Given the description of an element on the screen output the (x, y) to click on. 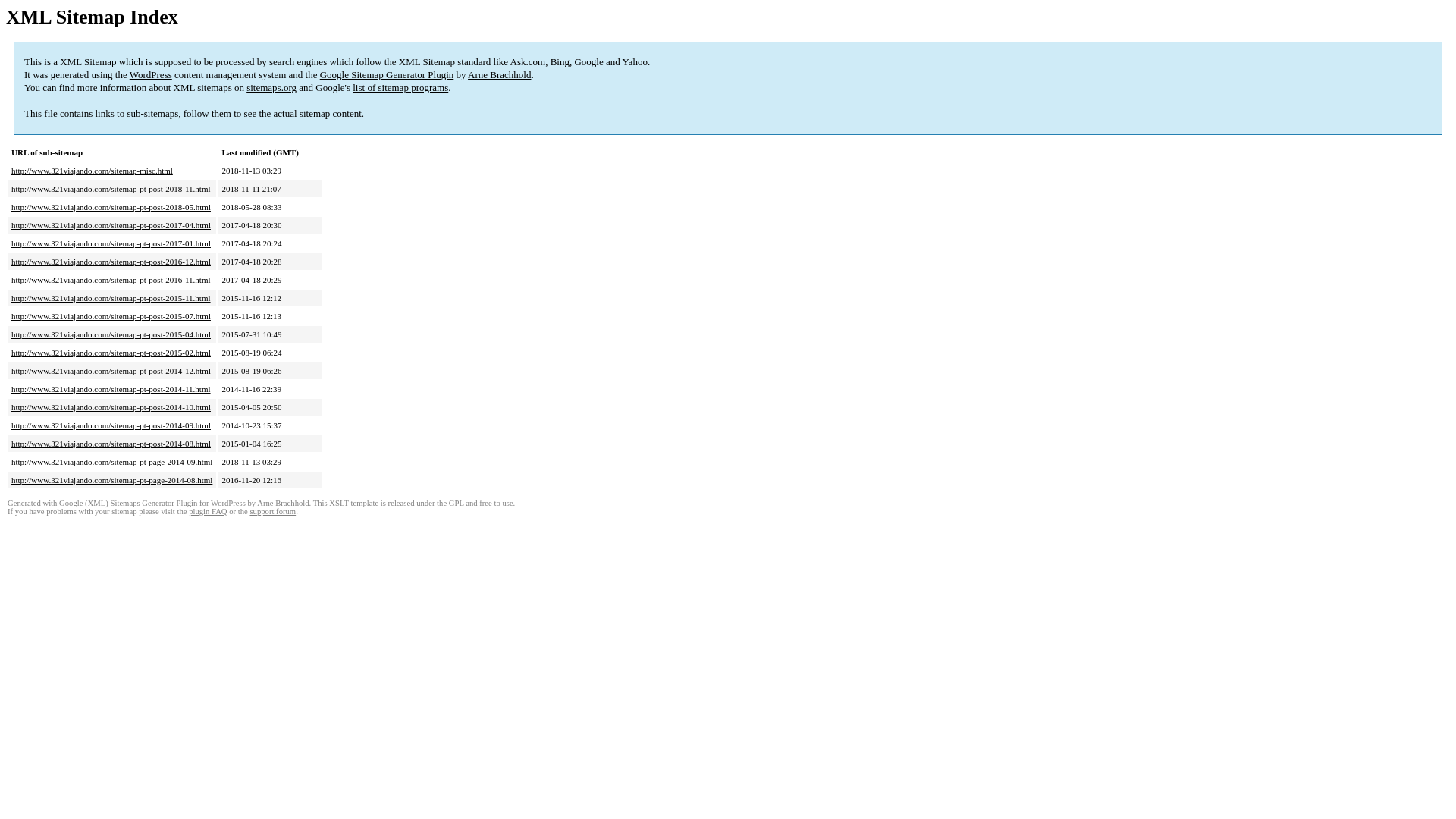
http://www.321viajando.com/sitemap-pt-post-2015-04.html Element type: text (110, 333)
http://www.321viajando.com/sitemap-pt-post-2017-04.html Element type: text (110, 224)
list of sitemap programs Element type: text (400, 87)
WordPress Element type: text (150, 74)
http://www.321viajando.com/sitemap-pt-post-2015-11.html Element type: text (110, 297)
plugin FAQ Element type: text (207, 511)
Arne Brachhold Element type: text (498, 74)
http://www.321viajando.com/sitemap-pt-page-2014-08.html Element type: text (111, 479)
http://www.321viajando.com/sitemap-pt-post-2017-01.html Element type: text (110, 242)
http://www.321viajando.com/sitemap-pt-post-2018-11.html Element type: text (110, 188)
Google (XML) Sitemaps Generator Plugin for WordPress Element type: text (152, 502)
Google Sitemap Generator Plugin Element type: text (387, 74)
sitemaps.org Element type: text (271, 87)
http://www.321viajando.com/sitemap-pt-page-2014-09.html Element type: text (111, 461)
http://www.321viajando.com/sitemap-pt-post-2014-11.html Element type: text (110, 388)
http://www.321viajando.com/sitemap-misc.html Element type: text (91, 170)
http://www.321viajando.com/sitemap-pt-post-2015-07.html Element type: text (110, 315)
Arne Brachhold Element type: text (282, 502)
http://www.321viajando.com/sitemap-pt-post-2018-05.html Element type: text (110, 206)
http://www.321viajando.com/sitemap-pt-post-2016-12.html Element type: text (110, 261)
support forum Element type: text (272, 511)
http://www.321viajando.com/sitemap-pt-post-2016-11.html Element type: text (110, 279)
http://www.321viajando.com/sitemap-pt-post-2014-09.html Element type: text (110, 424)
http://www.321viajando.com/sitemap-pt-post-2014-08.html Element type: text (110, 443)
http://www.321viajando.com/sitemap-pt-post-2014-10.html Element type: text (110, 406)
http://www.321viajando.com/sitemap-pt-post-2015-02.html Element type: text (110, 352)
http://www.321viajando.com/sitemap-pt-post-2014-12.html Element type: text (110, 370)
